Given the description of an element on the screen output the (x, y) to click on. 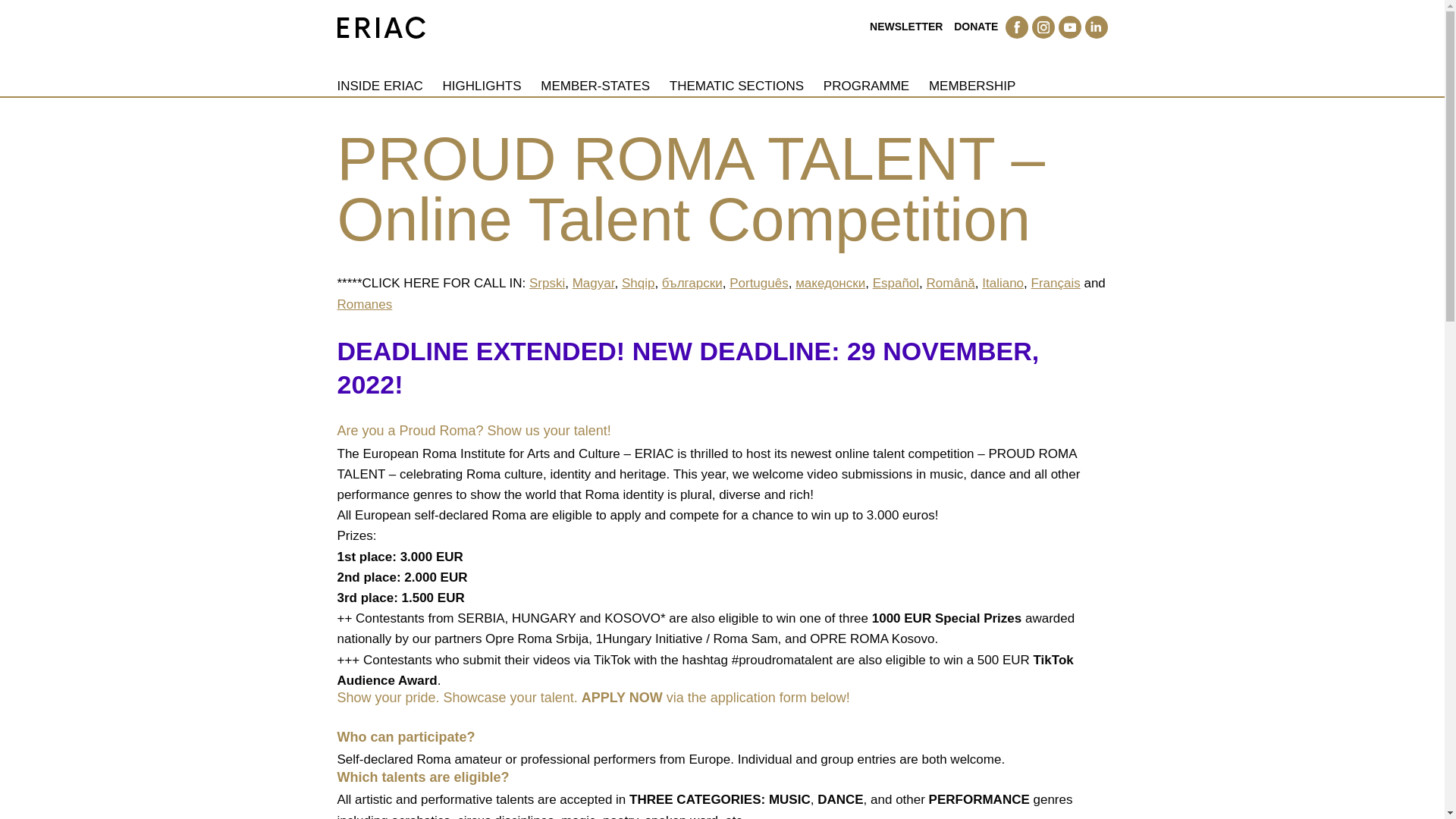
DONATE (975, 26)
NEWSLETTER (905, 26)
INSIDE ERIAC (379, 86)
HIGHLIGHTS (481, 86)
